Given the description of an element on the screen output the (x, y) to click on. 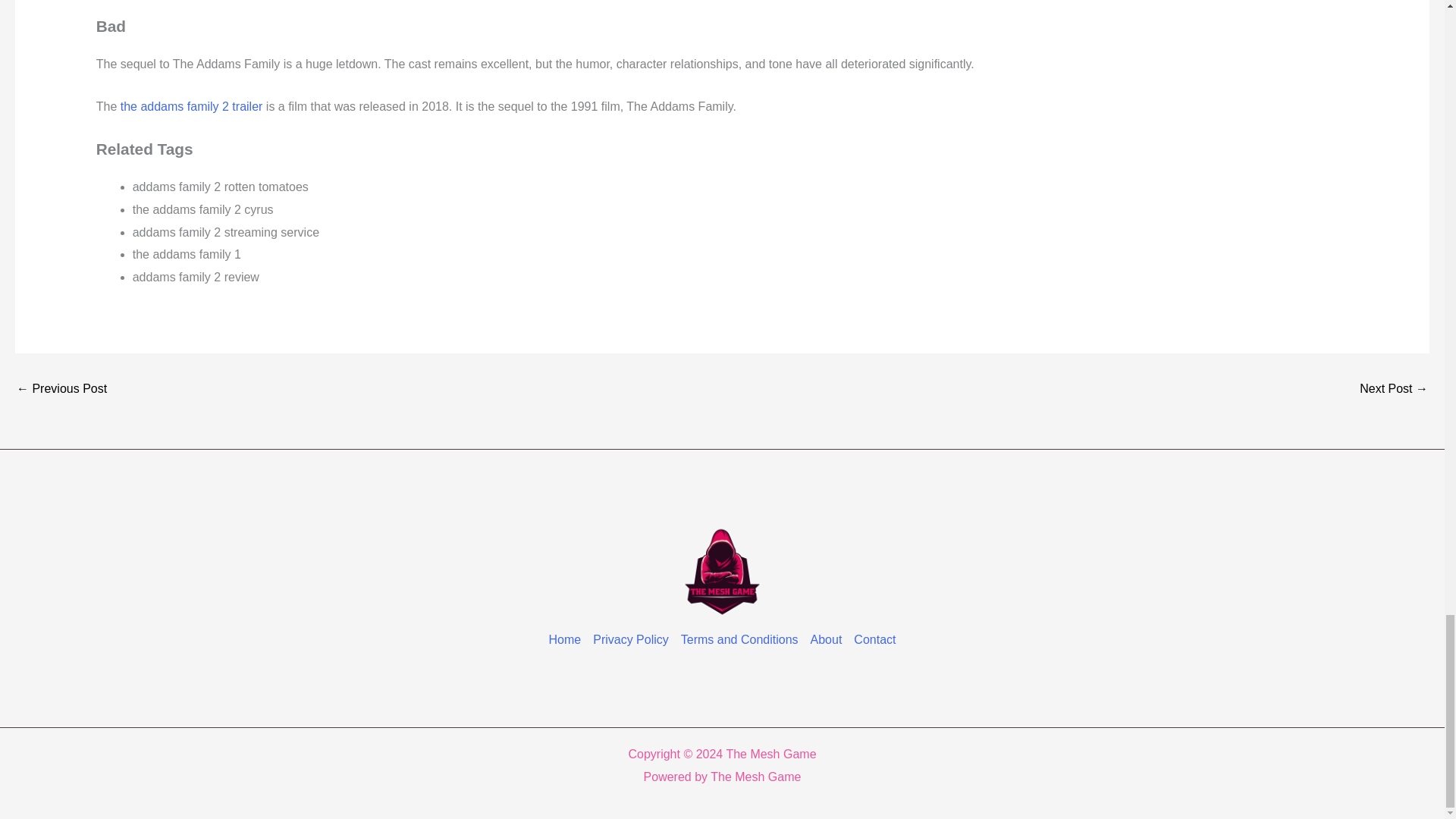
How to get crystals in Cookie Run Kingdom (61, 388)
Privacy Policy (630, 639)
About (826, 639)
Home (568, 639)
Terms and Conditions (740, 639)
Contact (871, 639)
the addams family 2 trailer (191, 106)
